Given the description of an element on the screen output the (x, y) to click on. 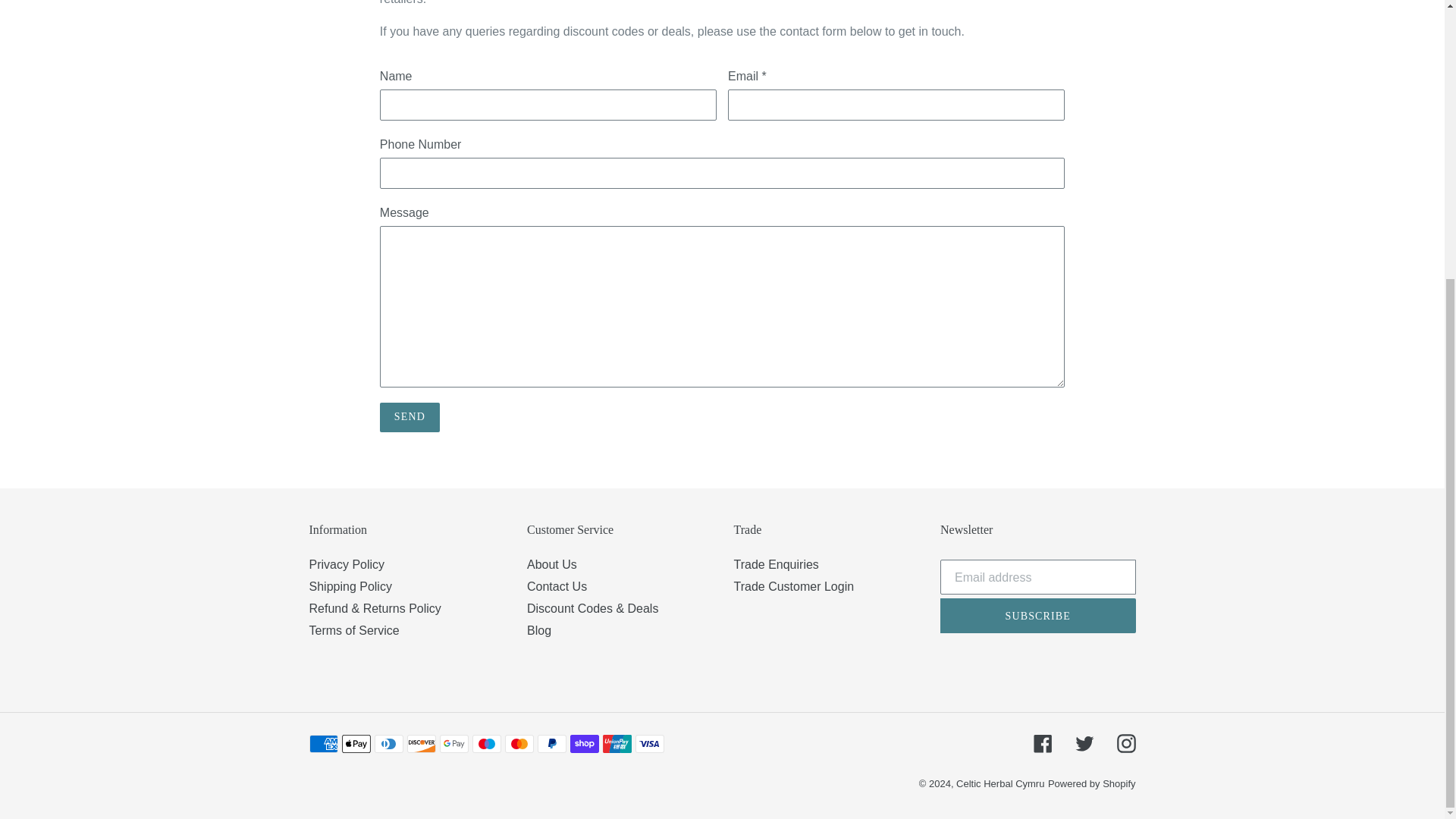
Send (409, 417)
